Given the description of an element on the screen output the (x, y) to click on. 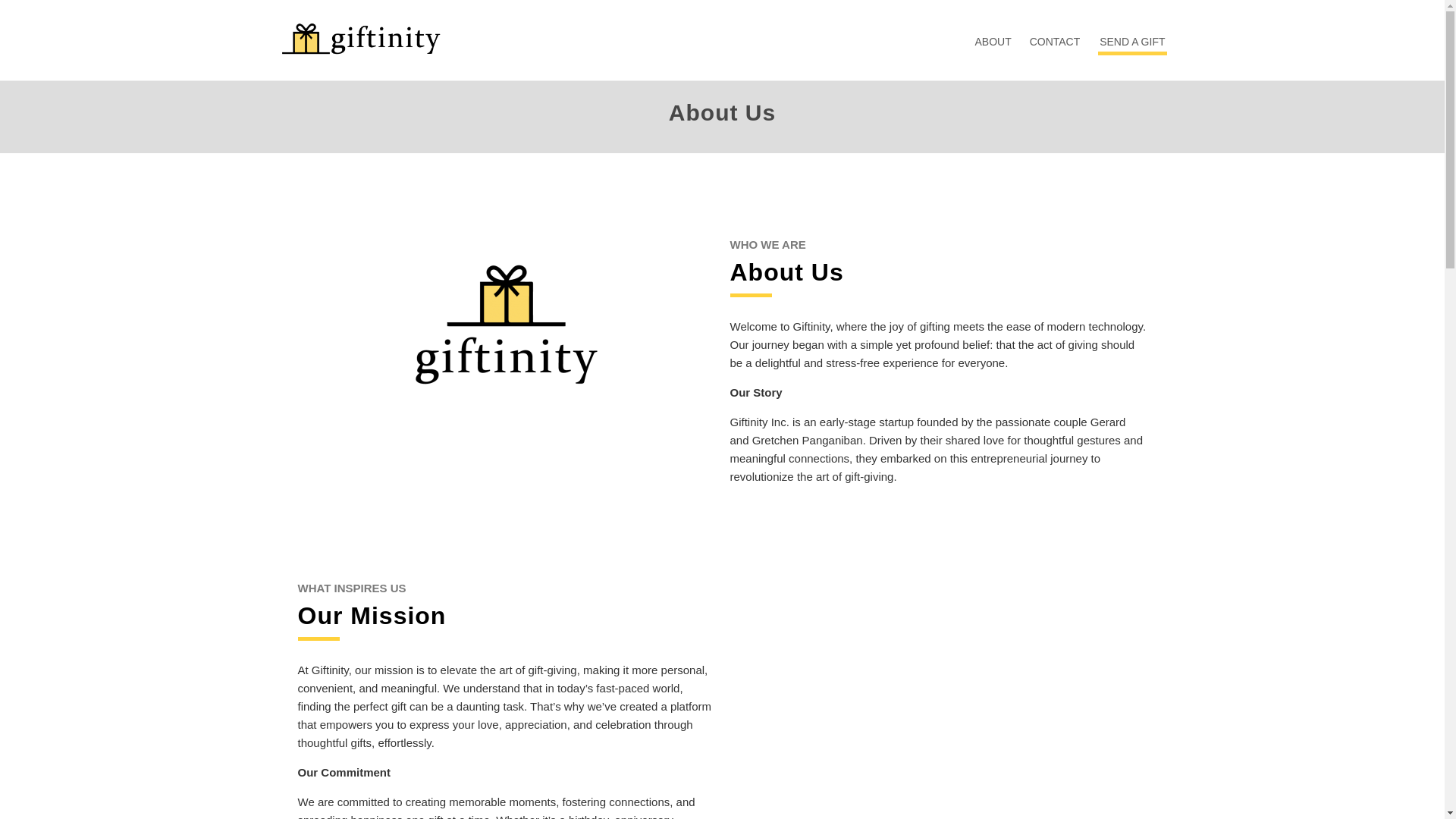
CONTACT (1054, 41)
SEND A GIFT (1131, 45)
ABOUT (993, 41)
